Given the description of an element on the screen output the (x, y) to click on. 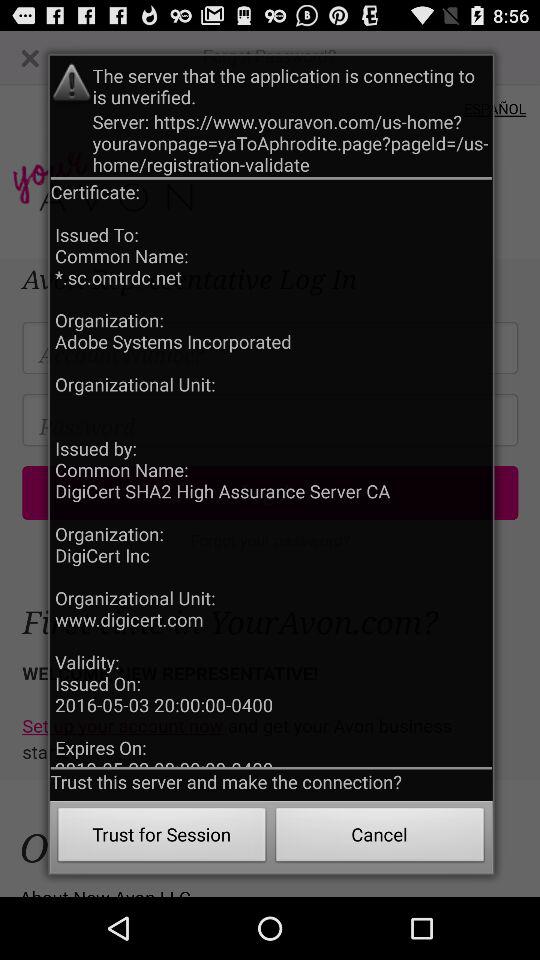
click the icon below the trust this server icon (162, 837)
